Given the description of an element on the screen output the (x, y) to click on. 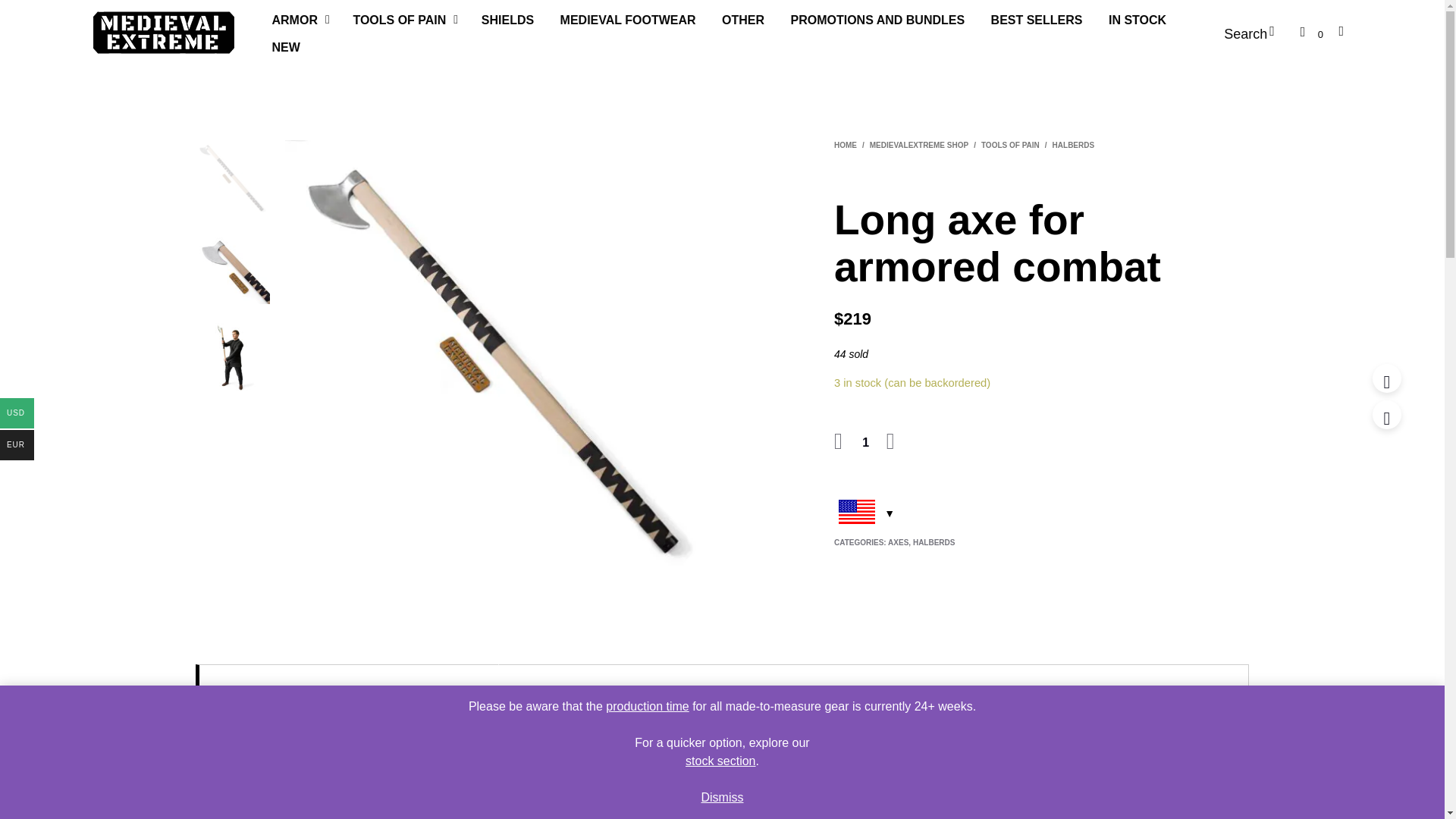
1 (865, 442)
ARMOR (294, 20)
MEDIEVAL FOOTWEAR (627, 20)
Buhurt Supplies (162, 32)
TOOLS OF PAIN (398, 20)
IN STOCK (1137, 20)
Search (1254, 33)
PROMOTIONS AND BUNDLES (876, 20)
0 (1311, 33)
